Given the description of an element on the screen output the (x, y) to click on. 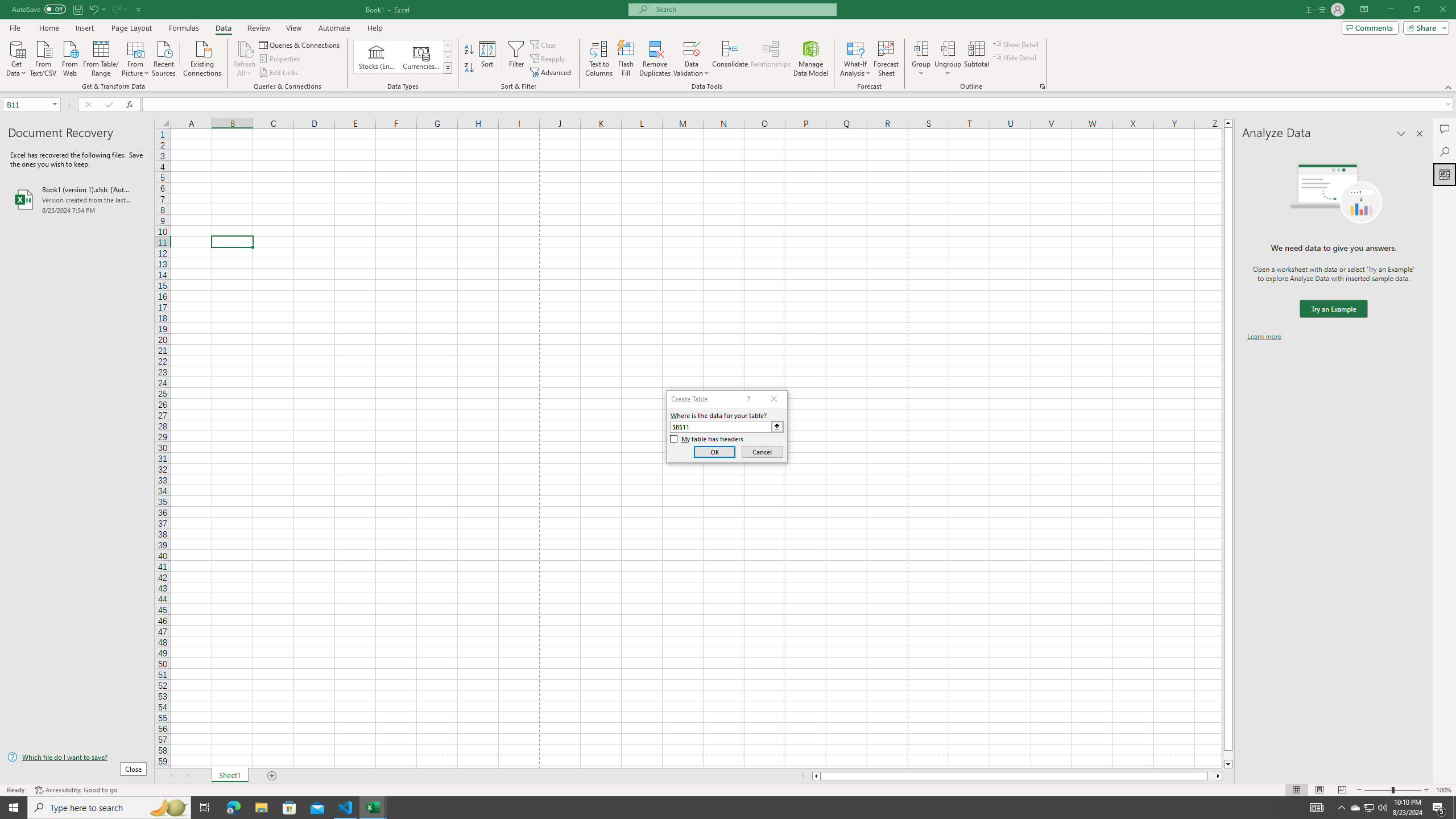
Quick Access Toolbar (77, 9)
Filter (515, 58)
From Text/CSV (43, 57)
